Given the description of an element on the screen output the (x, y) to click on. 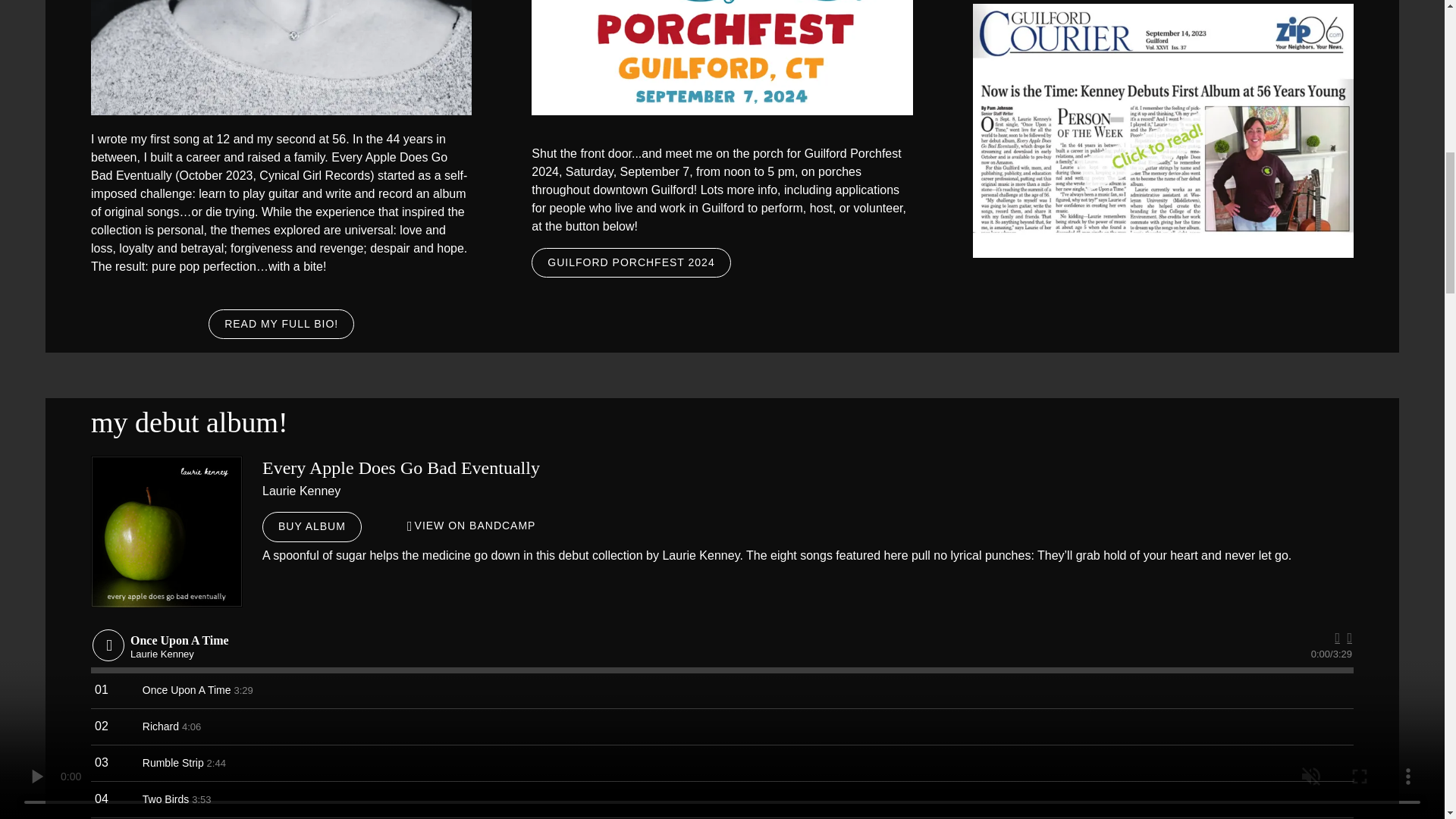
READ MY FULL BIO! (280, 324)
Every Apple Does Go Bad Eventually (166, 531)
Two Birds (165, 799)
Once Upon A Time (186, 690)
GUILFORD PORCHFEST 2024 (630, 263)
Richard (160, 726)
Richard (160, 726)
Once Upon A Time (186, 690)
Two Birds (165, 799)
VIEW ON BANDCAMP (471, 525)
BUY ALBUM (311, 526)
Rumble Strip (172, 763)
Rumble Strip (172, 763)
